Given the description of an element on the screen output the (x, y) to click on. 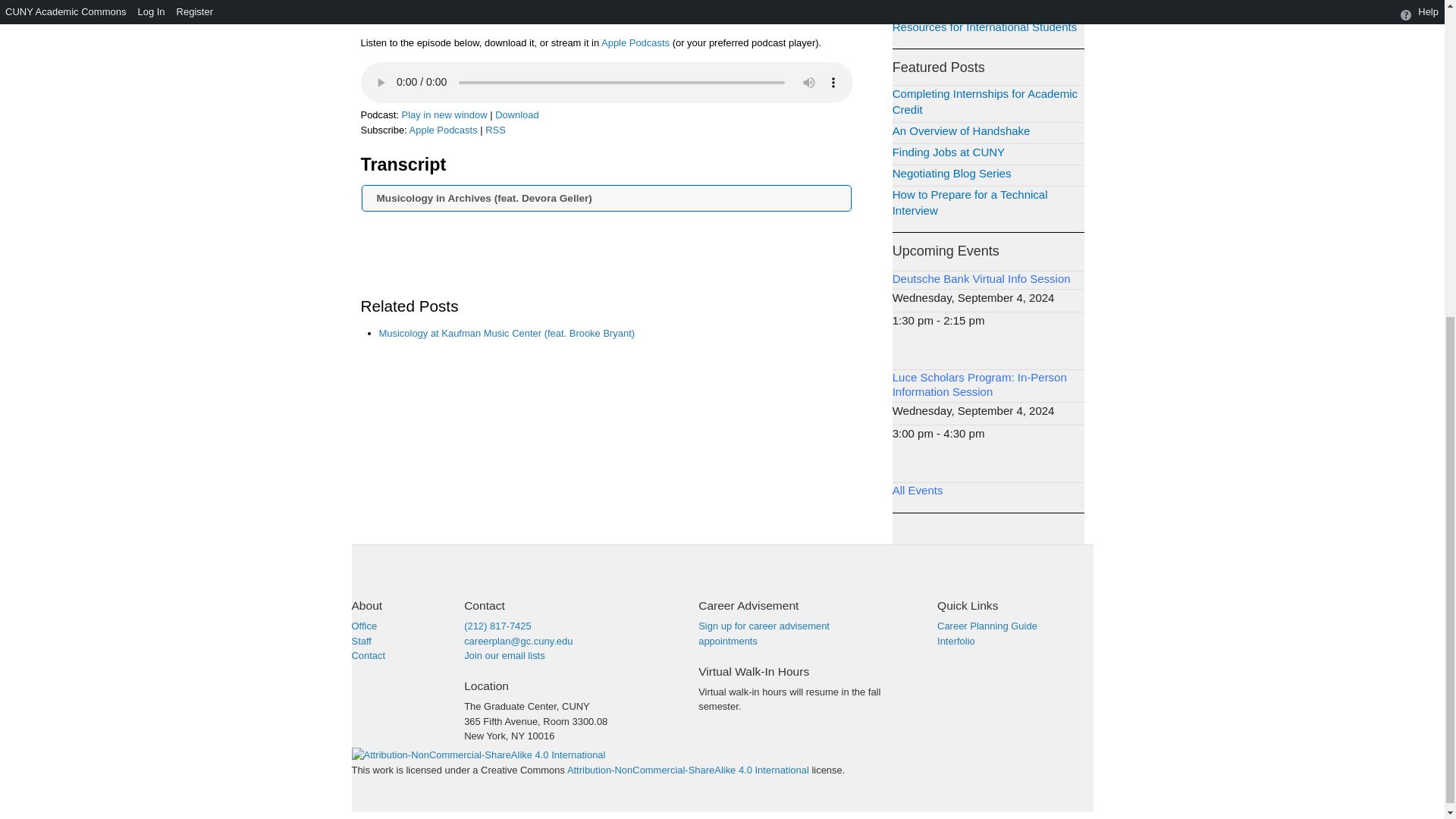
Play in new window (444, 114)
All Events (917, 490)
Subscribe on Apple Podcasts (443, 129)
Subscribe via RSS (494, 129)
Download (516, 114)
